Given the description of an element on the screen output the (x, y) to click on. 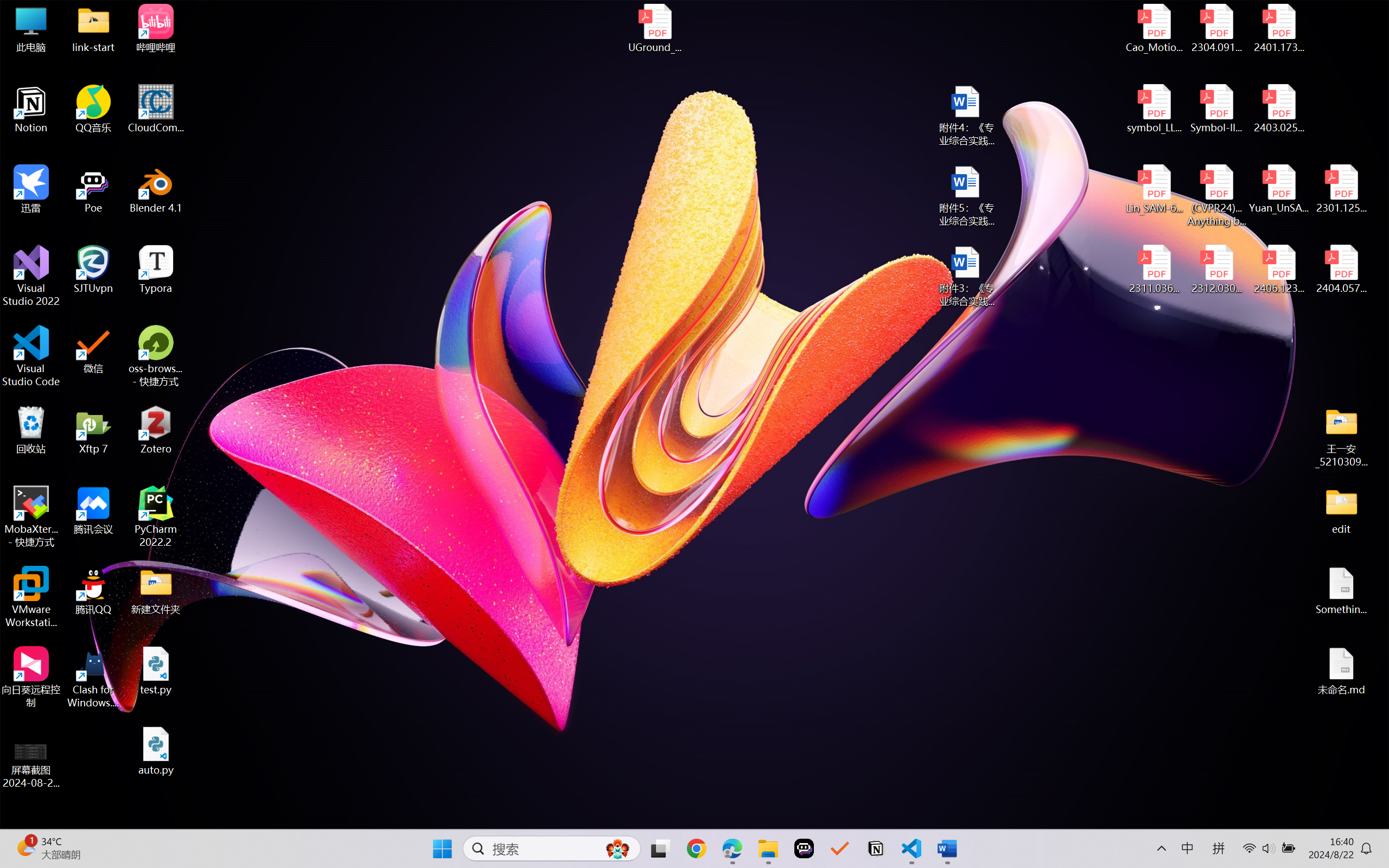
2404.05719v1.pdf (1340, 269)
2301.12597v3.pdf (1340, 189)
2311.03658v2.pdf (1154, 269)
test.py (156, 670)
2304.09121v3.pdf (1216, 28)
Poe (804, 848)
